Given the description of an element on the screen output the (x, y) to click on. 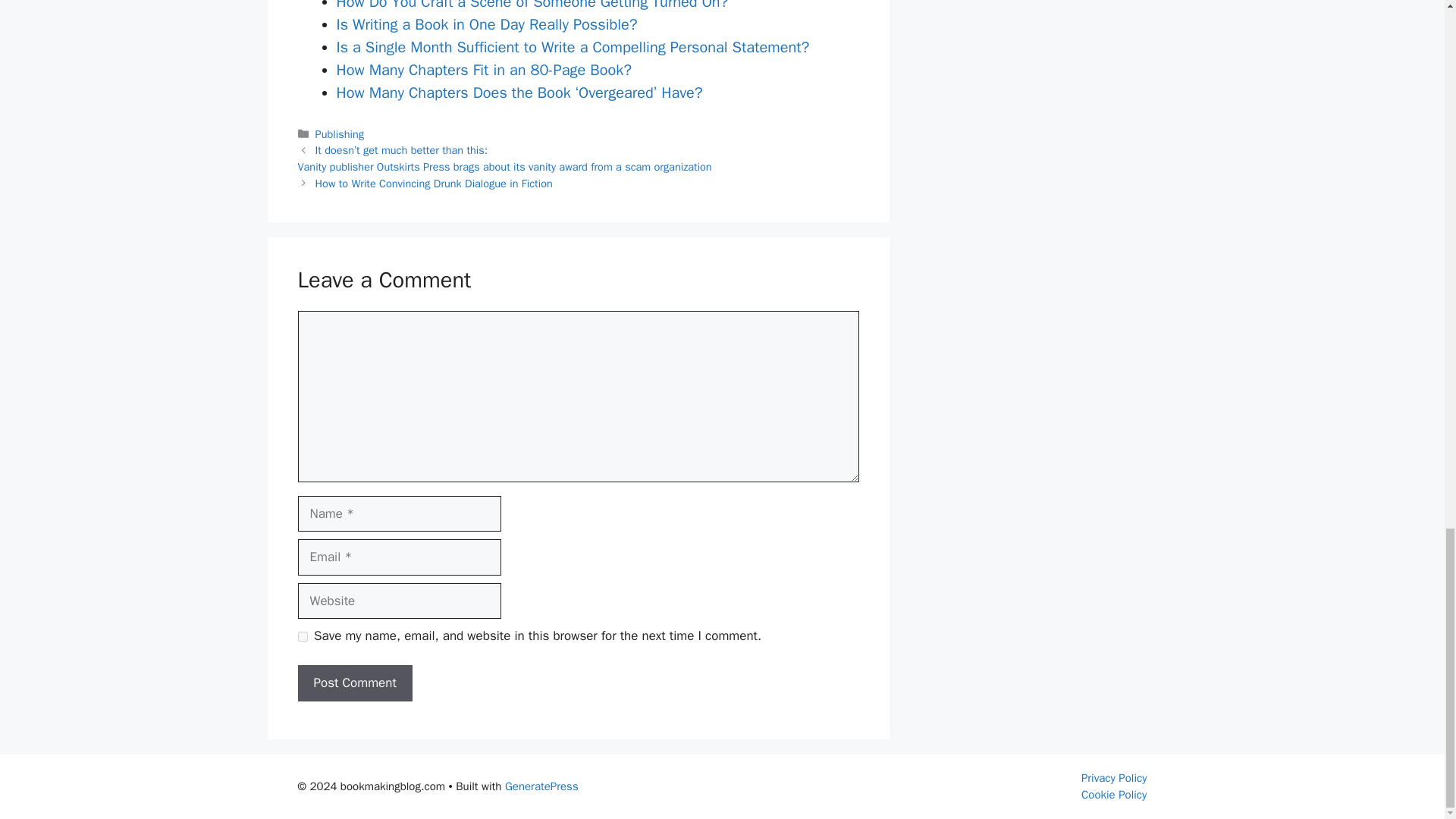
yes (302, 636)
Post Comment (354, 683)
GeneratePress (541, 786)
How to Write Convincing Drunk Dialogue in Fiction (434, 183)
Is Writing a Book in One Day Really Possible? (486, 24)
Privacy Policy  (1114, 777)
Publishing (339, 133)
Cookie Policy  (1114, 794)
How Many Chapters Fit in an 80-Page Book? (483, 69)
How Do You Craft a Scene of Someone Getting Turned On? (532, 5)
Privacy Policy (1114, 777)
Post Comment (354, 683)
Cookie Policy (1114, 794)
